Given the description of an element on the screen output the (x, y) to click on. 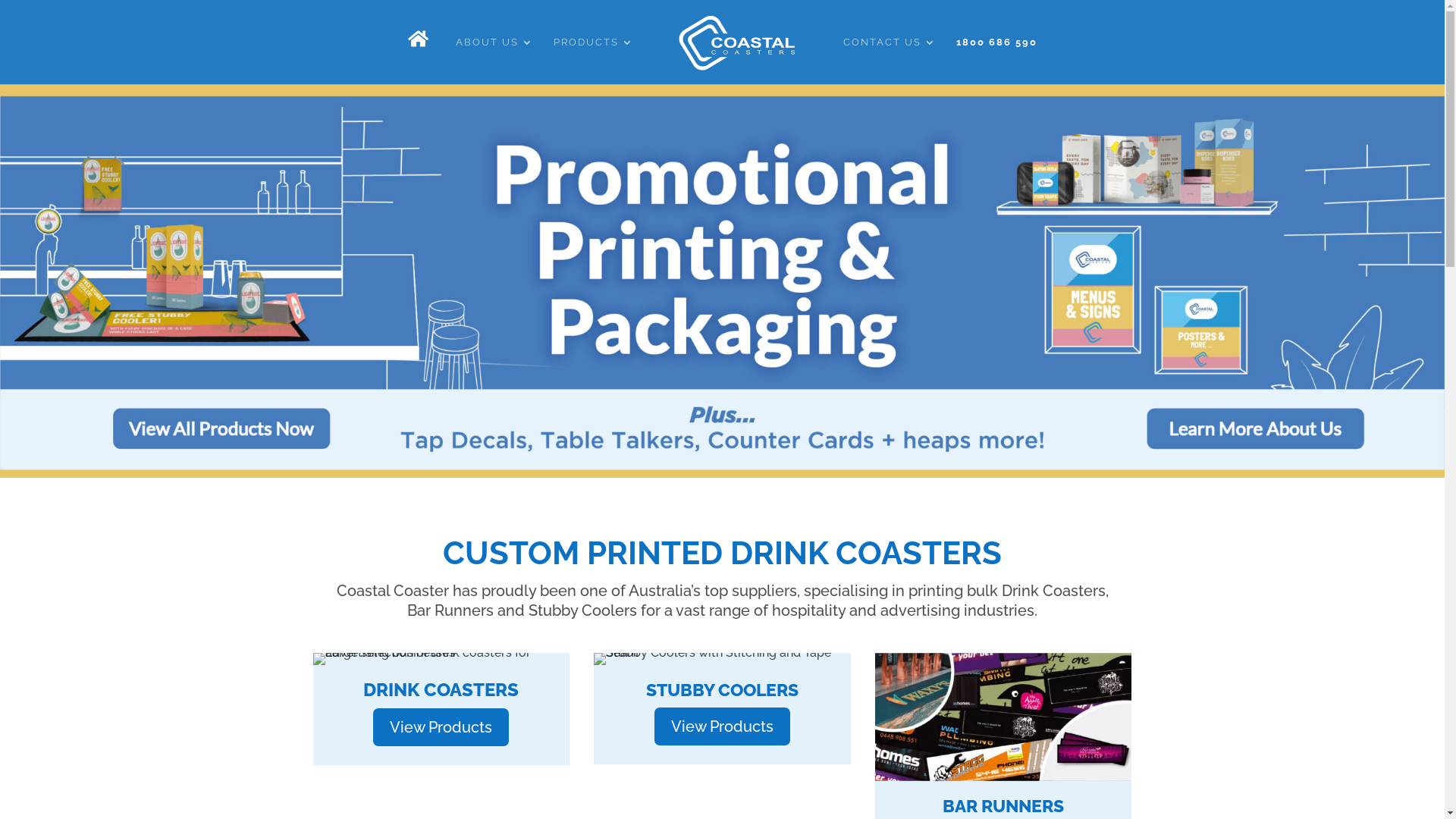
CONTACT US Element type: text (889, 59)
2 Bar Runner Banner Element type: hover (1003, 716)
3 Stubby Banner Element type: hover (721, 658)
PRODUCTS Element type: text (593, 59)
View Products Element type: text (722, 726)
ABOUT US Element type: text (494, 59)
1800 686 590 Element type: text (995, 59)
View Products Element type: text (440, 727)
Website Banner Element type: hover (722, 280)
HOME Element type: text (421, 58)
1 Coasters Banner Element type: hover (440, 658)
